Given the description of an element on the screen output the (x, y) to click on. 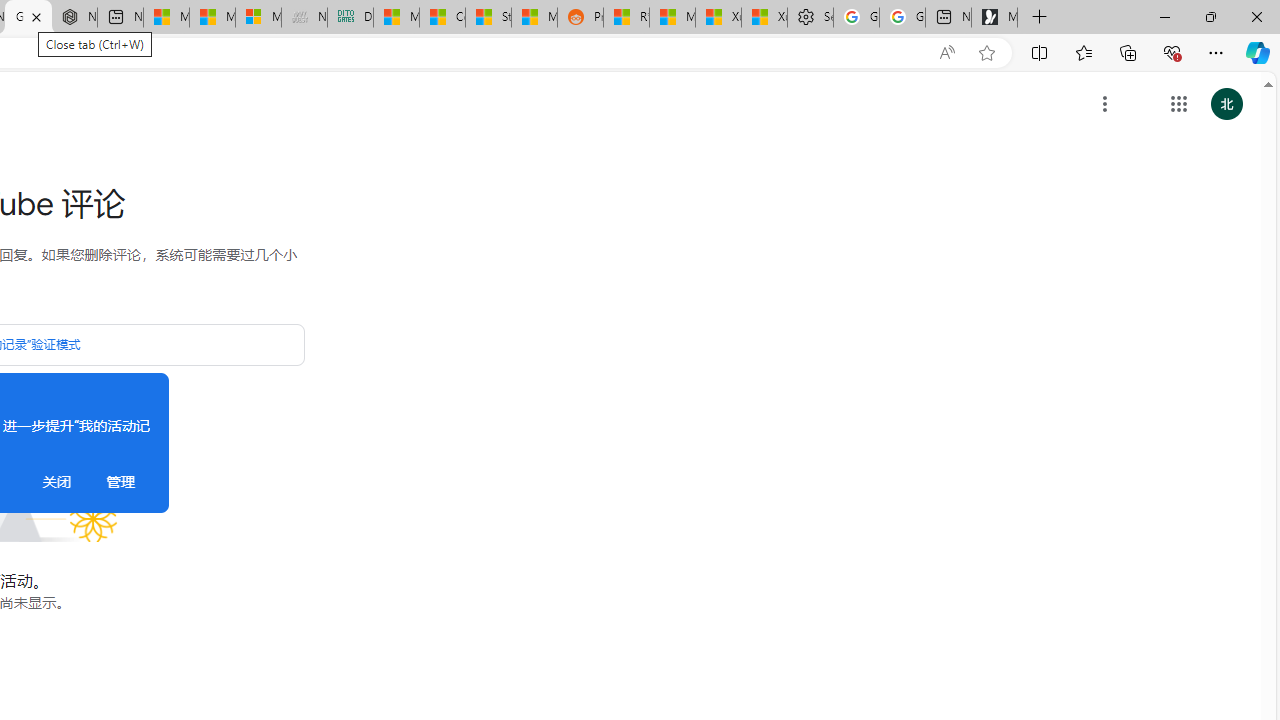
MSN (534, 17)
Nordace - Nordace Siena Is Not An Ordinary Backpack (74, 17)
Class: Xviznc NMm5M (1105, 103)
